Given the description of an element on the screen output the (x, y) to click on. 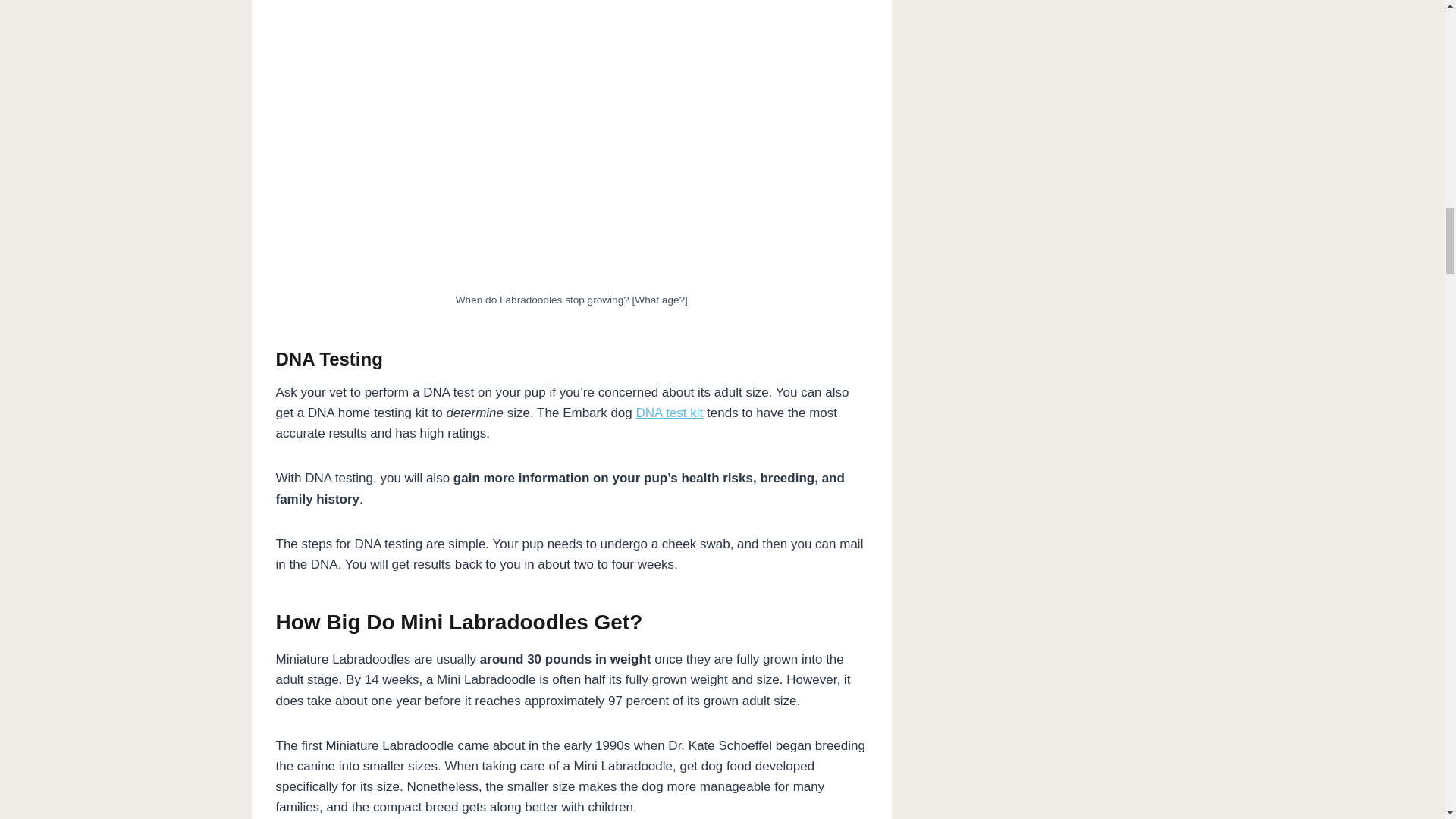
DNA test kit (669, 412)
